Given the description of an element on the screen output the (x, y) to click on. 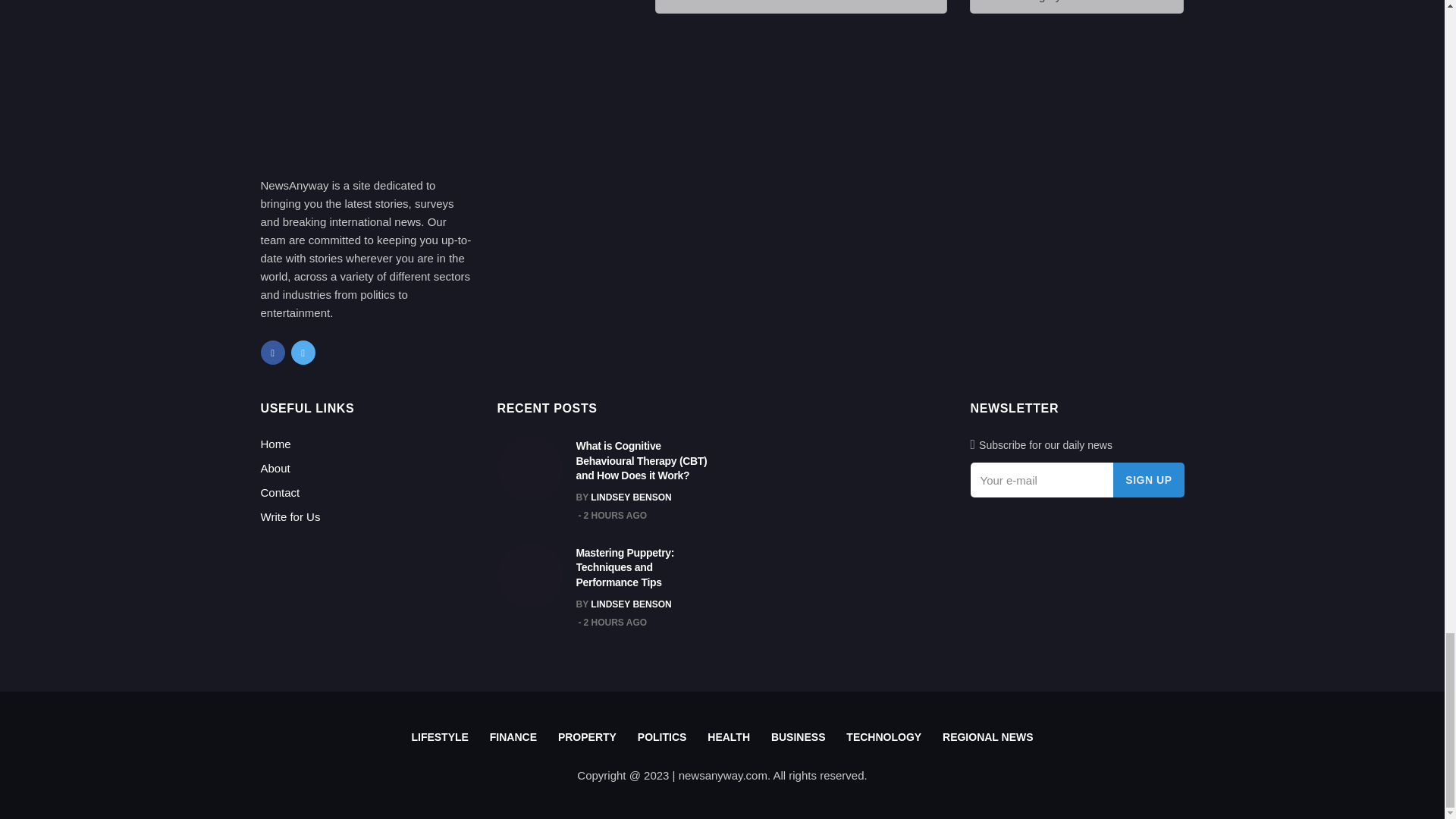
Sign Up (1148, 479)
